Given the description of an element on the screen output the (x, y) to click on. 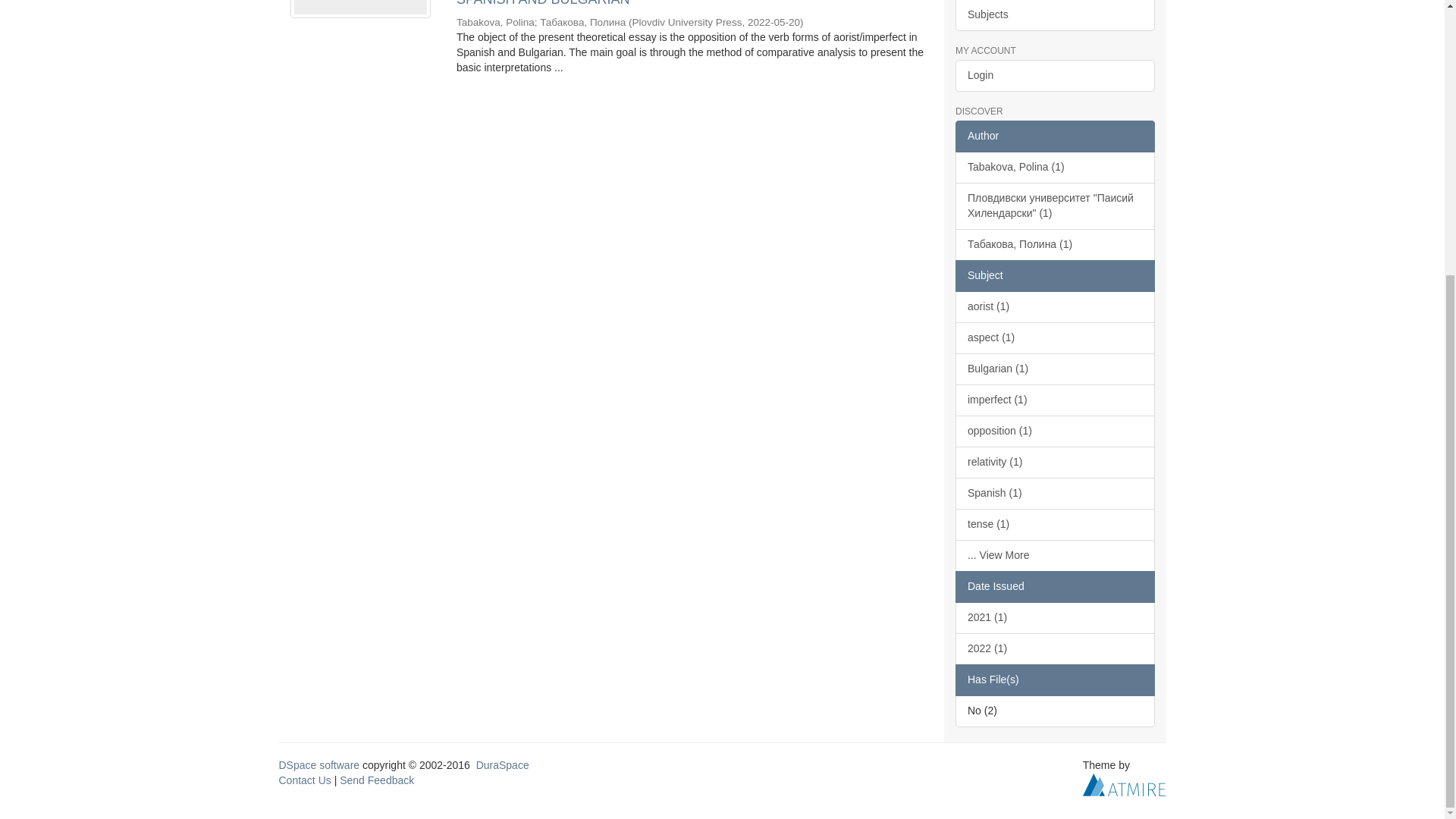
Atmire NV (1124, 784)
